Given the description of an element on the screen output the (x, y) to click on. 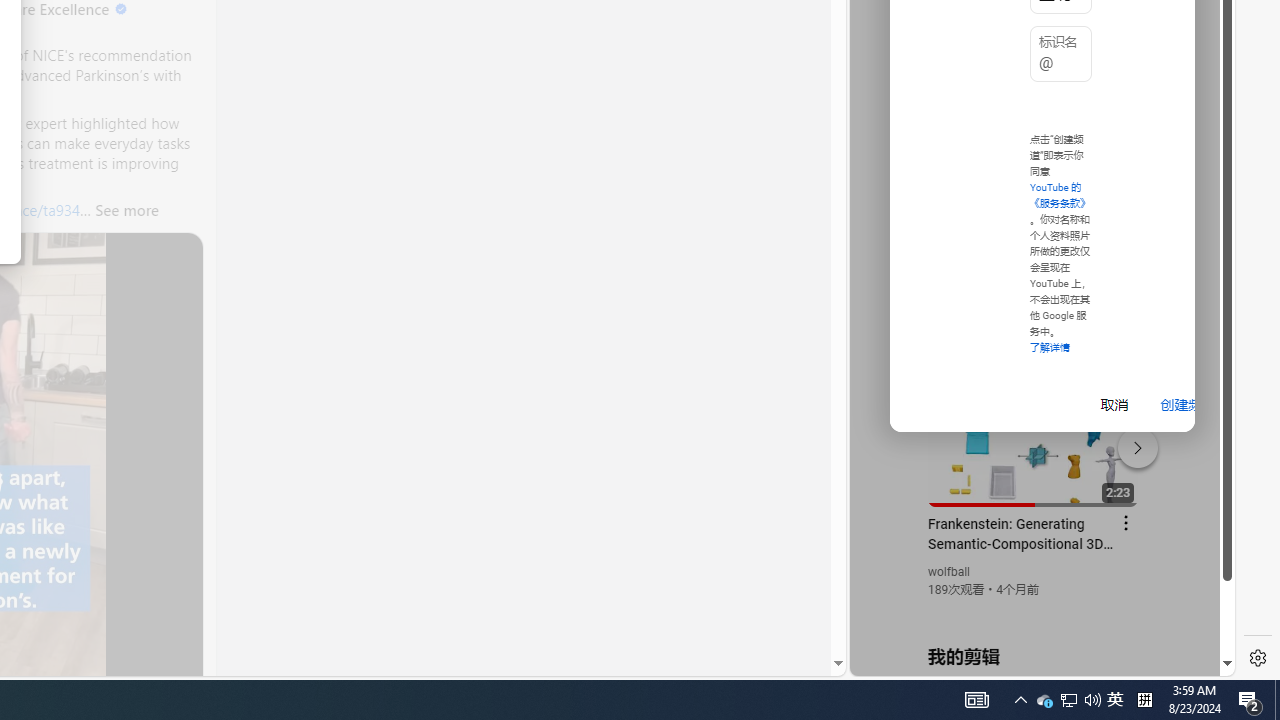
Class: dict_pnIcon rms_img (1028, 660)
#you (1034, 439)
YouTube - YouTube (1034, 266)
Global web icon (888, 432)
Click to scroll right (1196, 83)
US[ju] (917, 660)
